Given the description of an element on the screen output the (x, y) to click on. 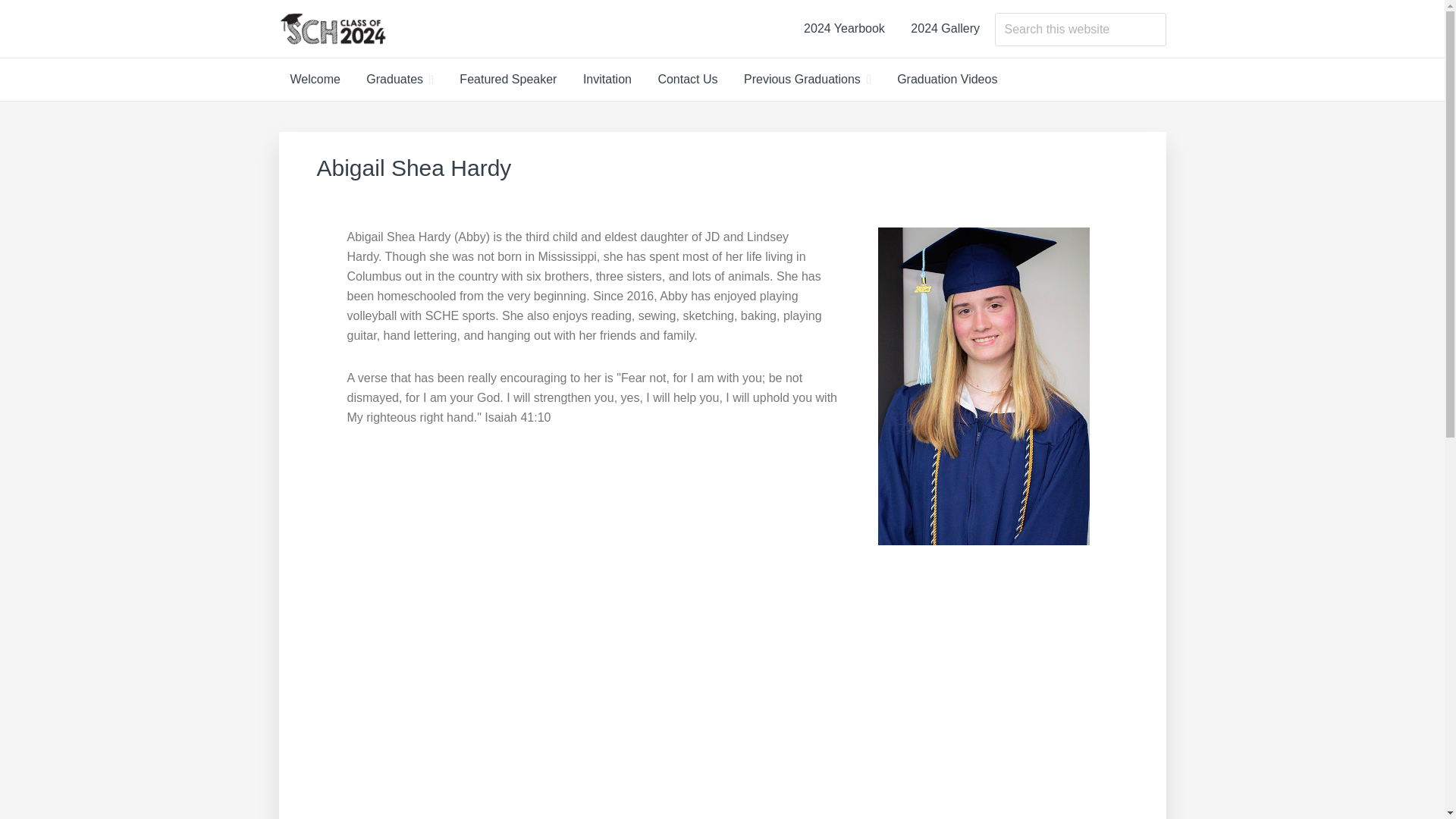
SCH GRADUATES (408, 64)
Featured Speaker (507, 79)
Graduates (400, 79)
2024 Yearbook (844, 28)
2024 Gallery (945, 28)
Contact Us (687, 79)
Invitation (607, 79)
Welcome (315, 79)
